Given the description of an element on the screen output the (x, y) to click on. 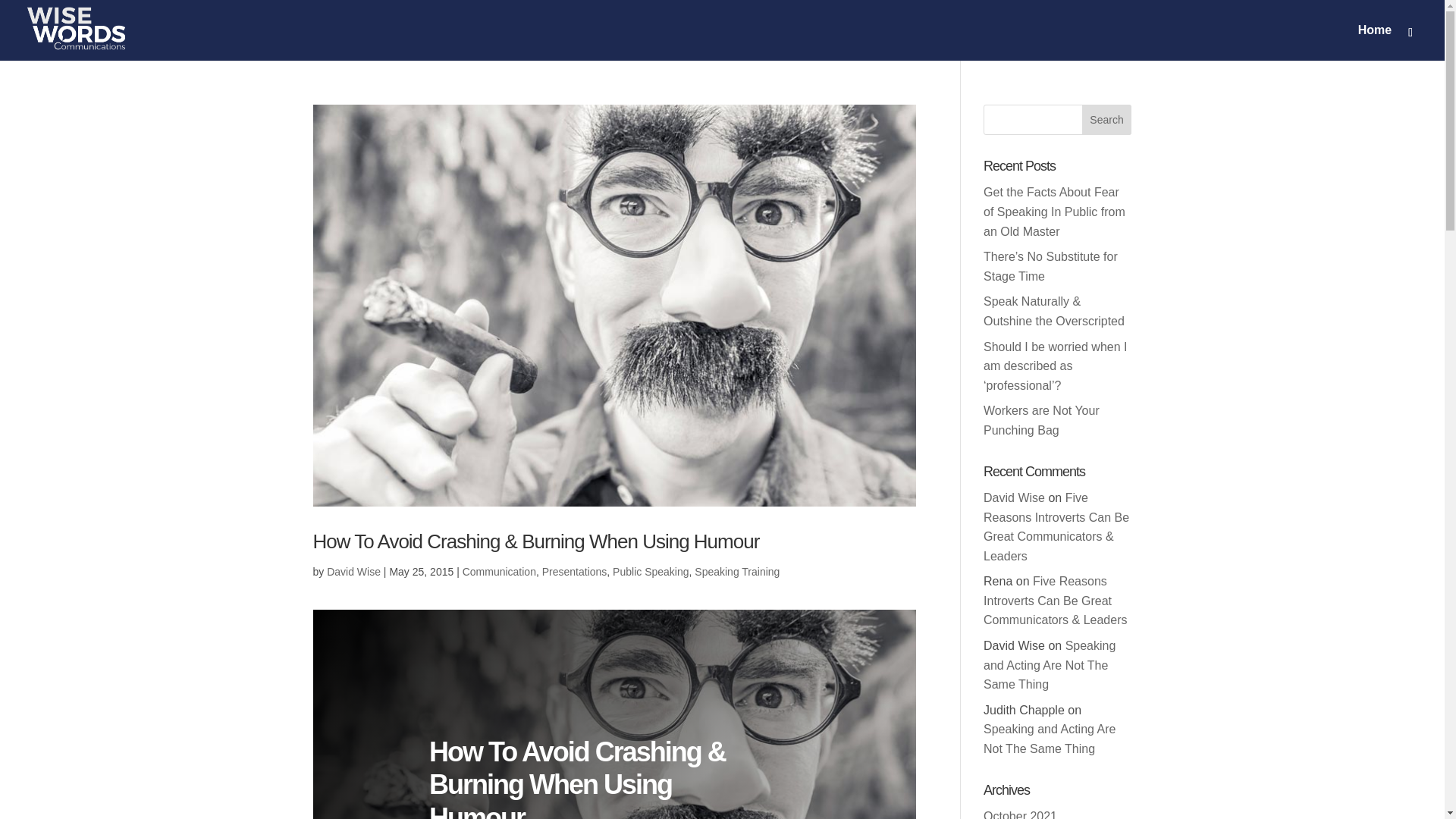
Home (1374, 42)
David Wise (1014, 497)
Search (1106, 119)
Presentations (574, 571)
October 2021 (1020, 814)
Public Speaking (650, 571)
Speaking Training (736, 571)
David Wise (353, 571)
Speaking and Acting Are Not The Same Thing (1049, 665)
Speaking and Acting Are Not The Same Thing (1049, 738)
Search (1106, 119)
Workers are Not Your Punching Bag (1041, 420)
Communication (499, 571)
Posts by David Wise (353, 571)
